Given the description of an element on the screen output the (x, y) to click on. 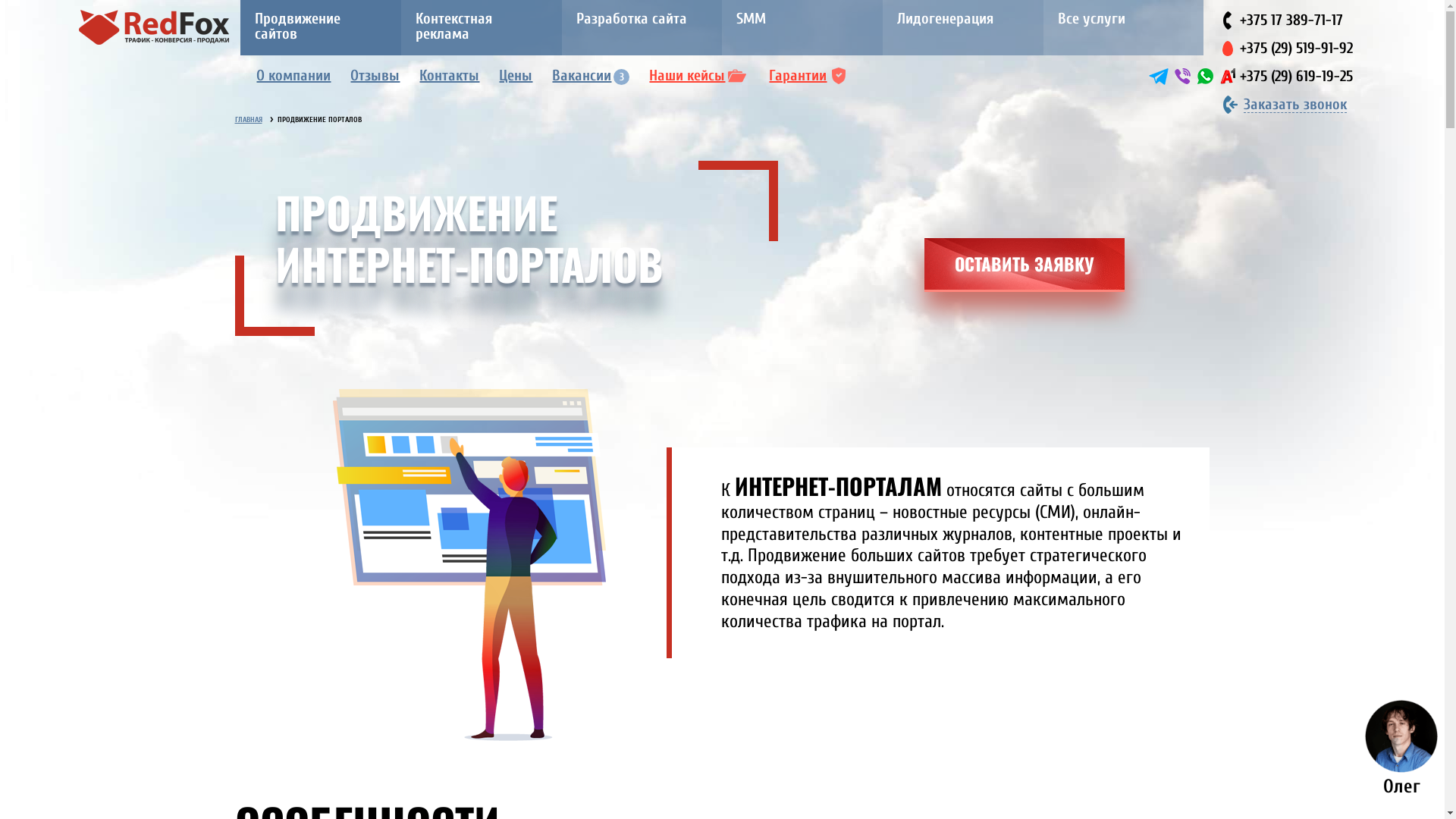
+375 (29) 519-91-92 Element type: text (1295, 47)
+375 17 389-71-17 Element type: text (1291, 19)
SMM Element type: text (801, 27)
Telegram Element type: hover (1158, 75)
Viber Element type: hover (1182, 75)
+375 (29) 619-19-25 Element type: text (1295, 75)
WhatsApp Element type: hover (1205, 75)
